Given the description of an element on the screen output the (x, y) to click on. 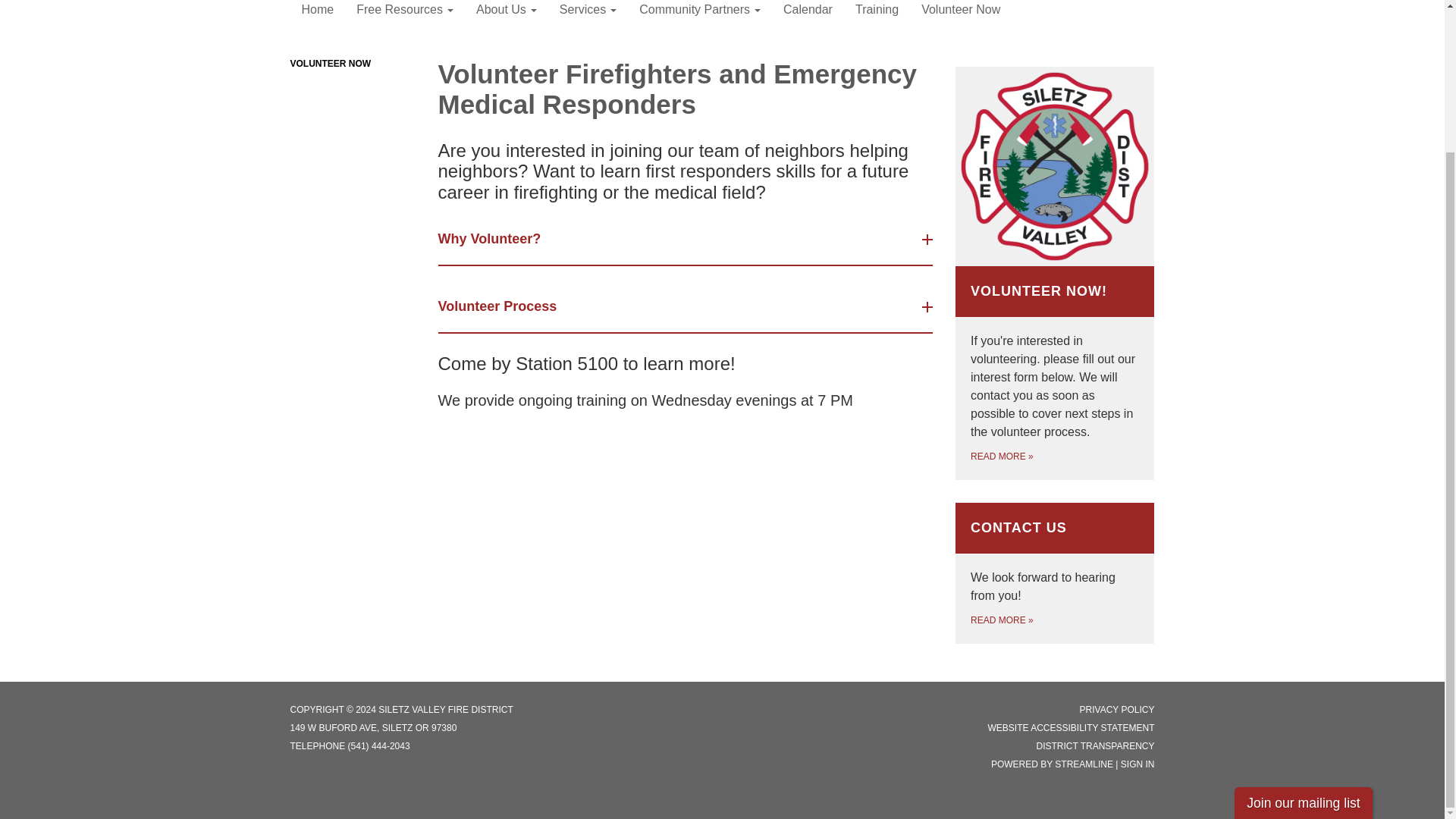
About Us (506, 14)
Calendar (807, 14)
Special District Transparency Report (1094, 745)
Services (587, 14)
Training (877, 14)
Streamline: Technology for Special Districts (1083, 763)
Free Resources (404, 14)
Community Partners (699, 14)
Home (317, 14)
